Given the description of an element on the screen output the (x, y) to click on. 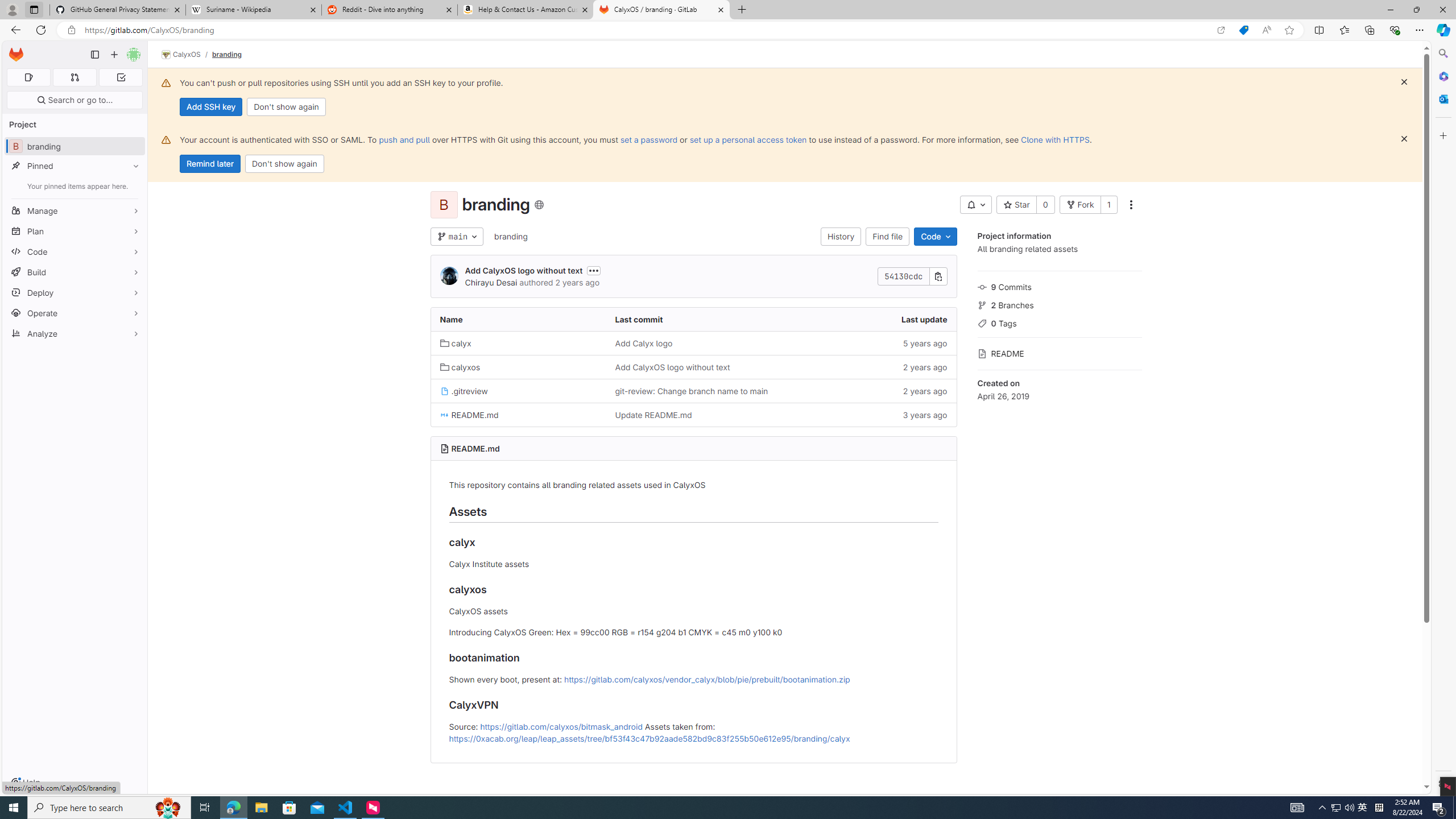
Add CalyxOS logo without text (693, 366)
CalyxOS (180, 54)
Fork (1079, 204)
